Given the description of an element on the screen output the (x, y) to click on. 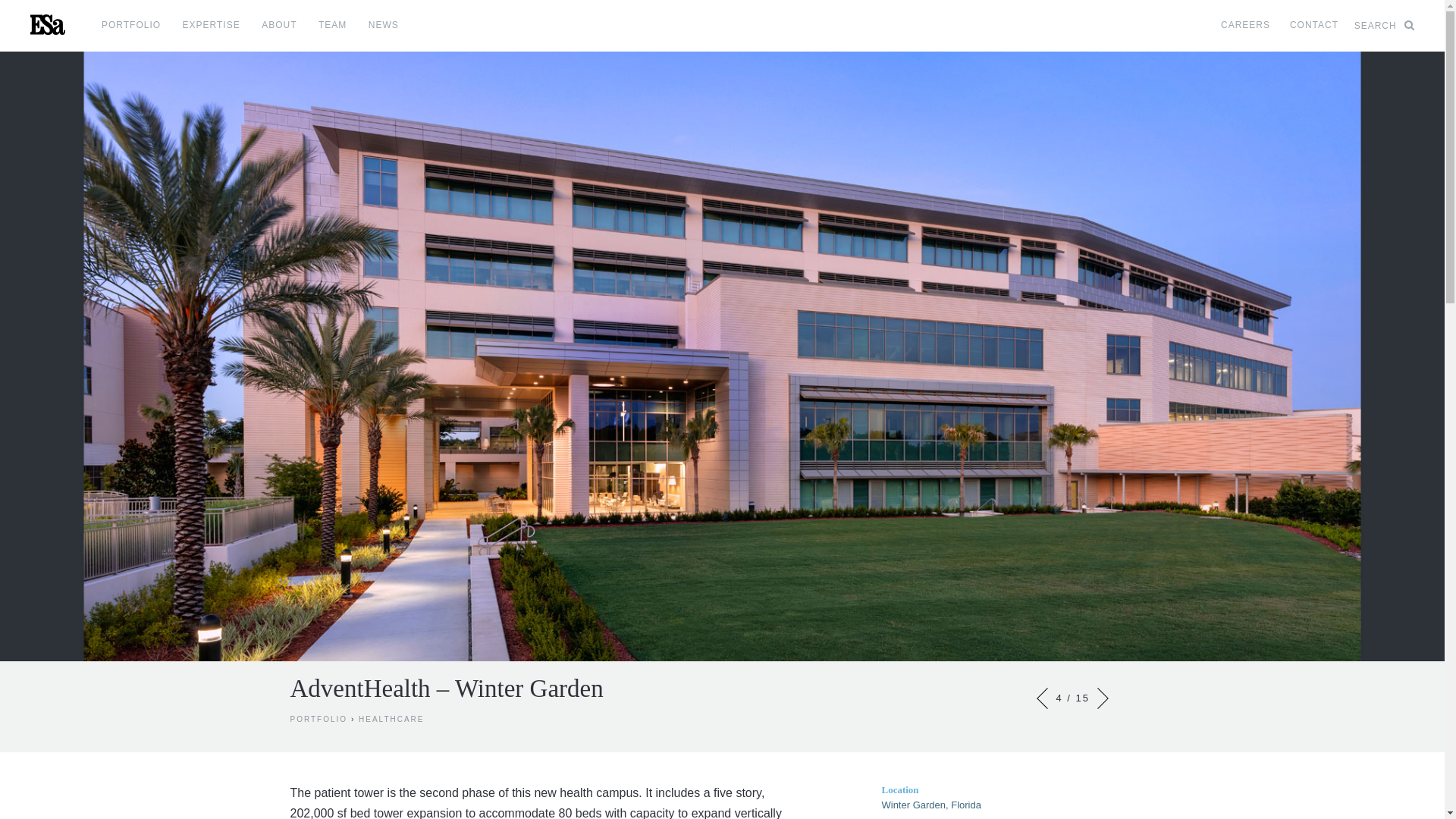
EXPERTISE (211, 30)
HEALTHCARE (391, 718)
SEARCH (1383, 30)
PORTFOLIO (130, 30)
CONTACT (1314, 30)
PORTFOLIO (318, 718)
CAREERS (1245, 30)
